Given the description of an element on the screen output the (x, y) to click on. 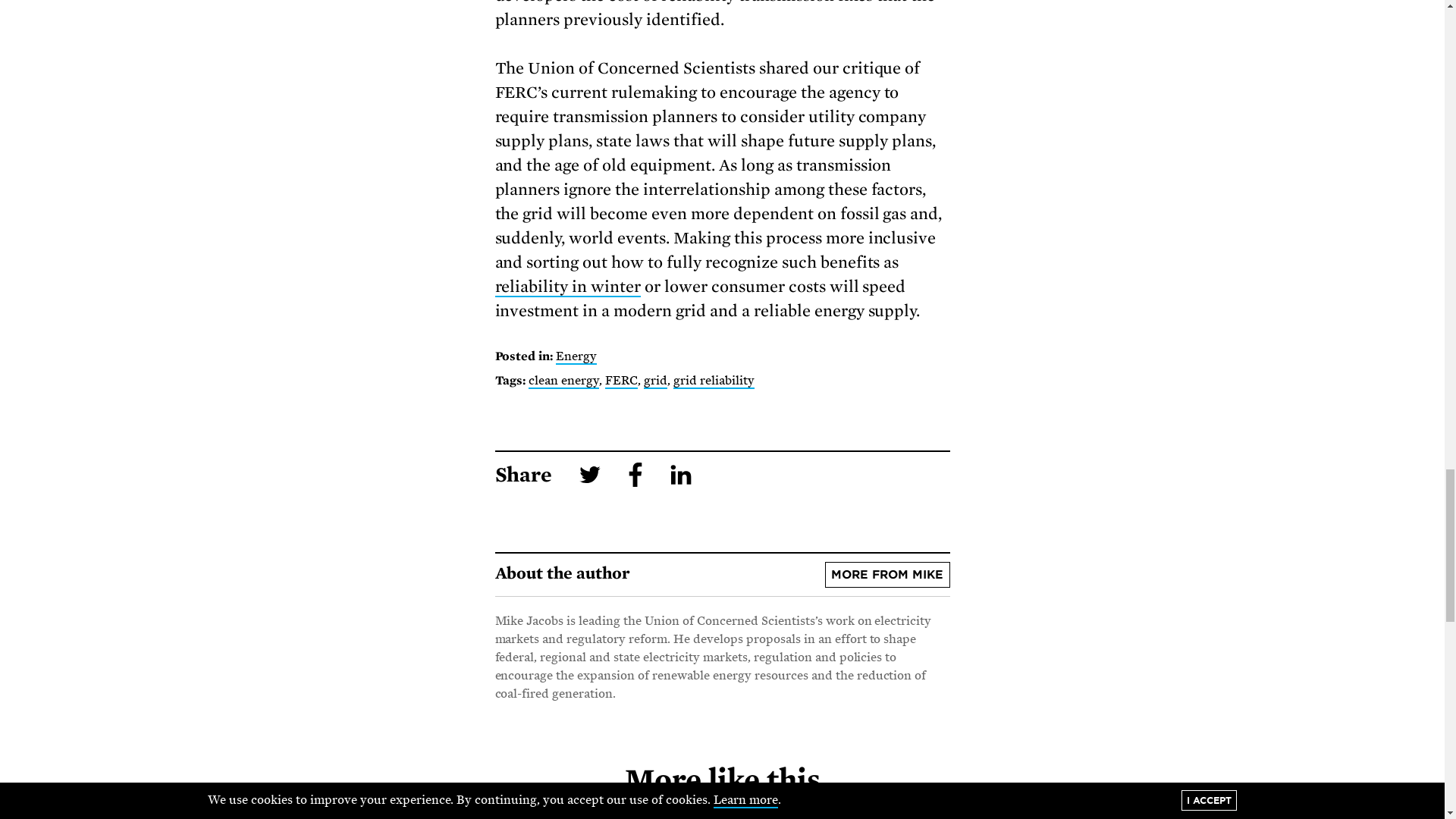
grid (654, 381)
FERC (621, 381)
reliability in winter (567, 287)
Energy (576, 356)
grid reliability (713, 381)
MORE FROM MIKE (887, 574)
clean energy (563, 381)
